Given the description of an element on the screen output the (x, y) to click on. 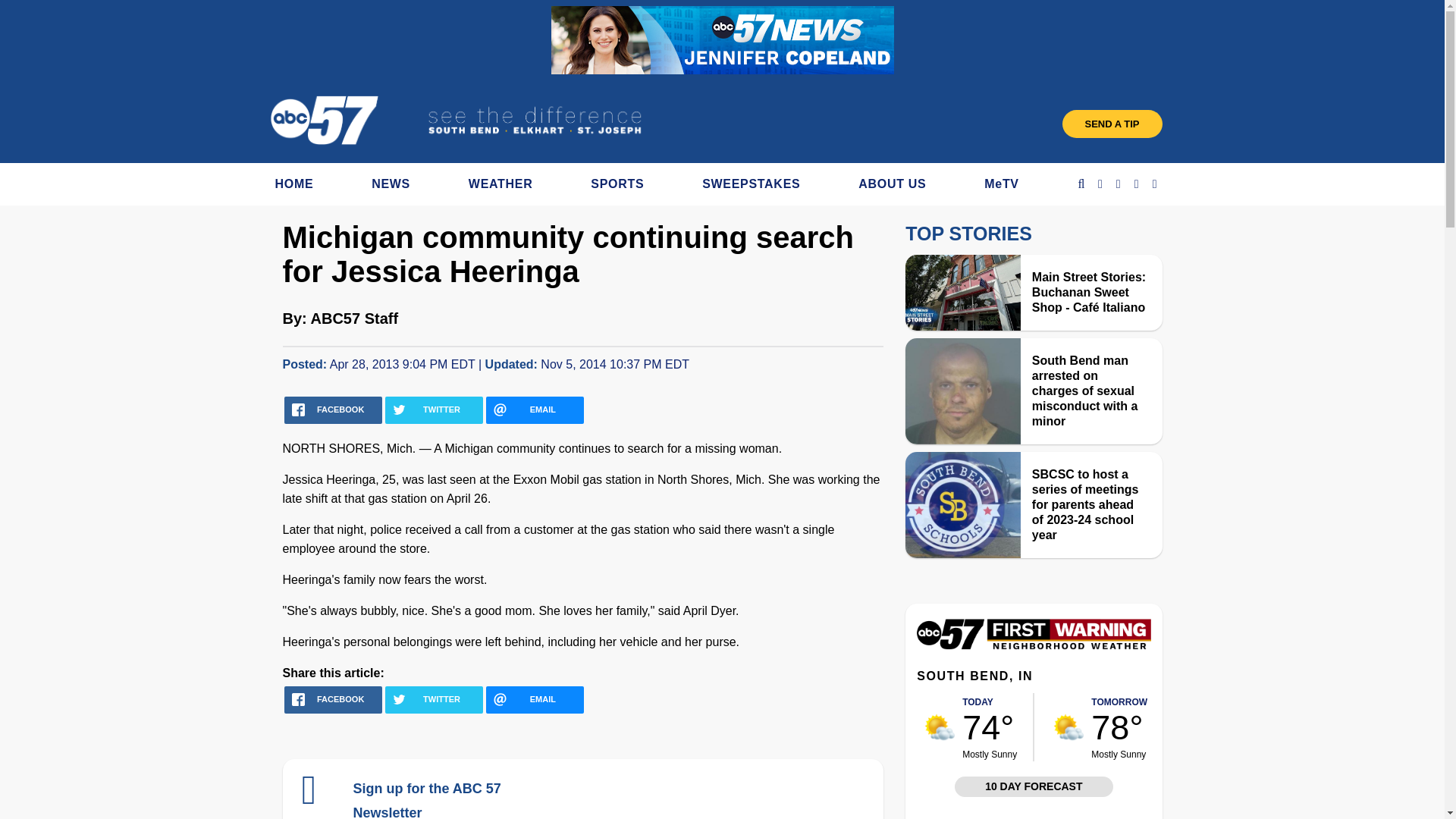
Weather (1033, 645)
weather (939, 726)
weather (1067, 726)
